Given the description of an element on the screen output the (x, y) to click on. 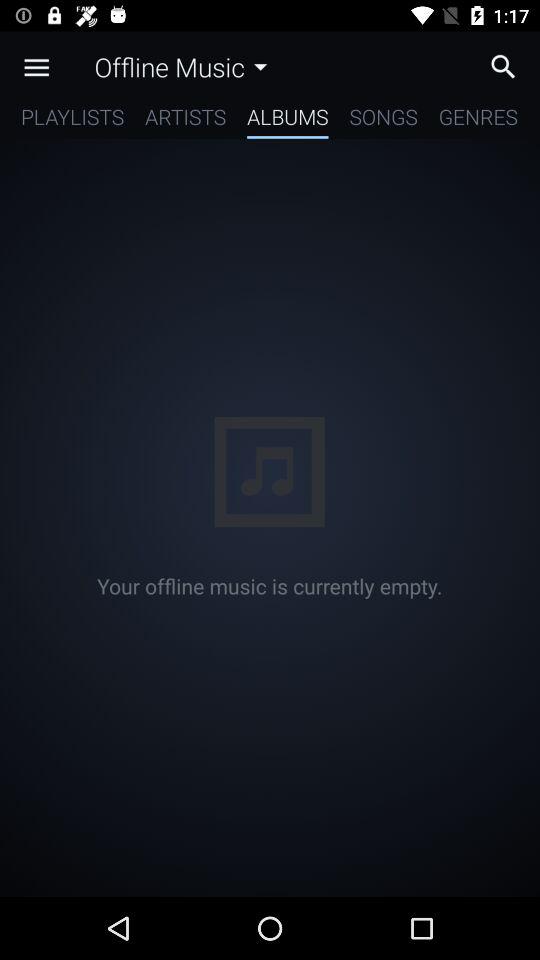
launch the playlists icon (72, 120)
